Given the description of an element on the screen output the (x, y) to click on. 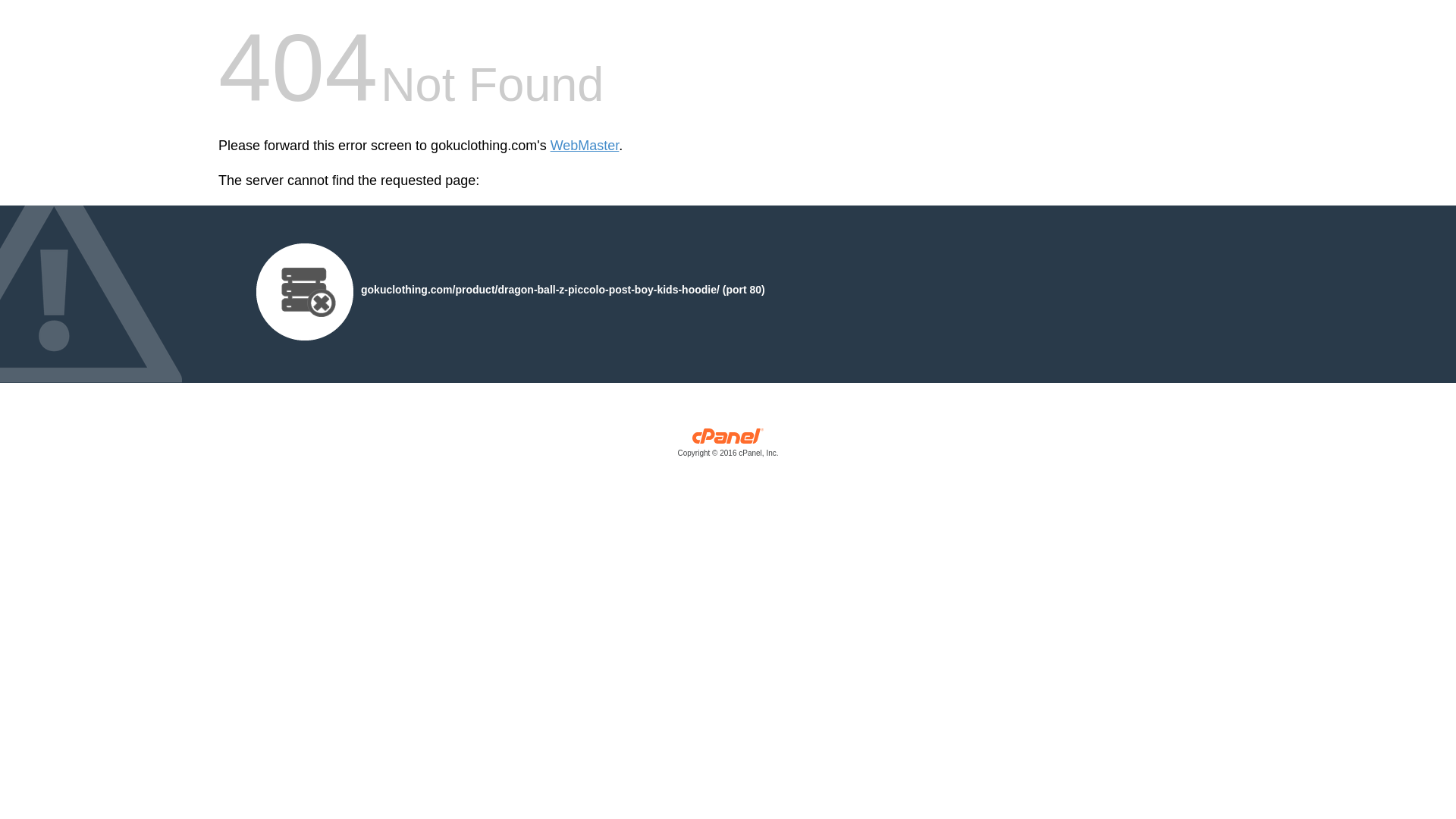
cPanel, Inc. (727, 446)
WebMaster (585, 145)
